Given the description of an element on the screen output the (x, y) to click on. 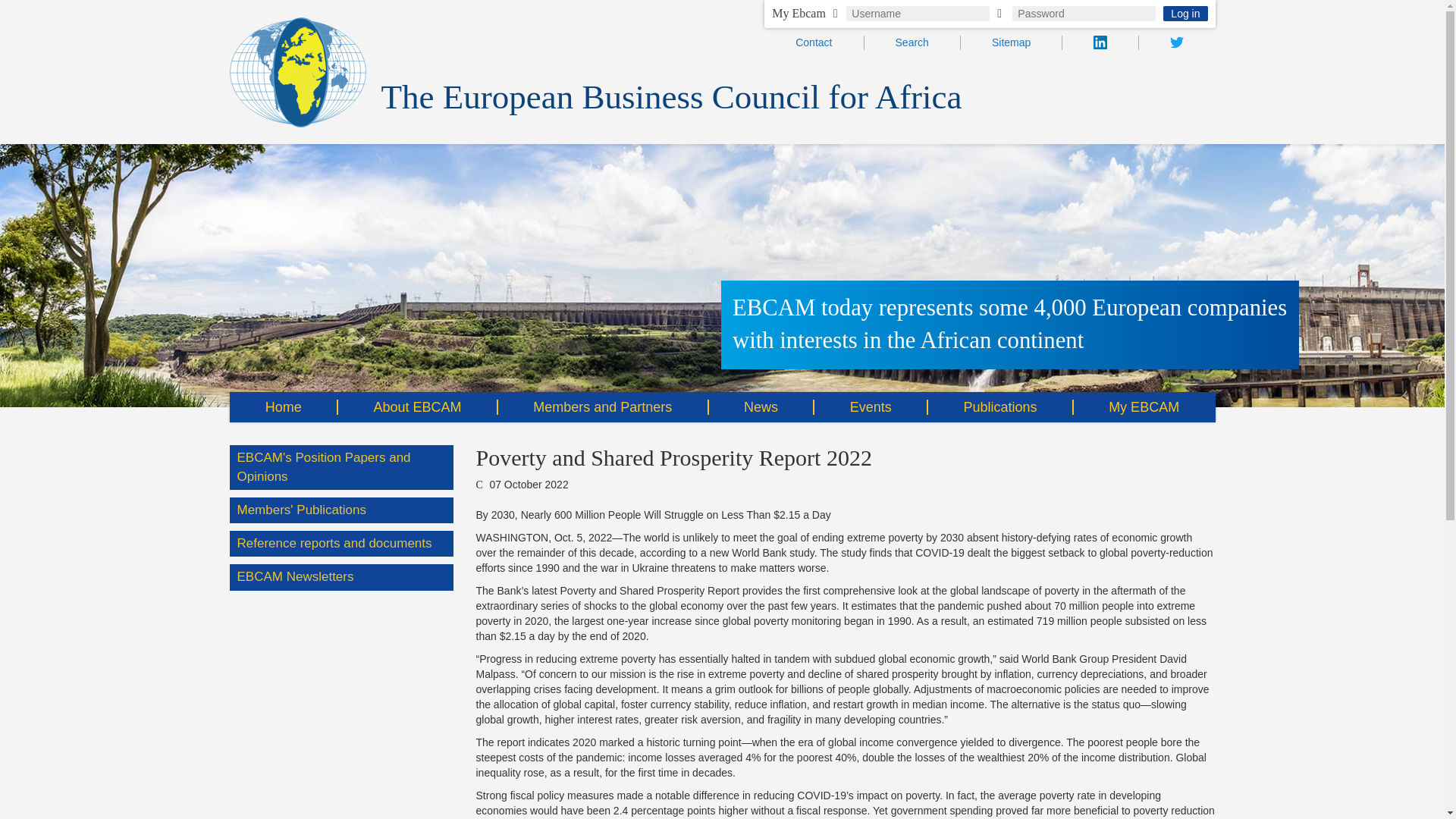
Publications (1000, 407)
Members and Partners (602, 407)
Contact (812, 42)
My EBCAM (1144, 407)
Sitemap (1010, 42)
About EBCAM (417, 407)
Events (870, 407)
Search (911, 42)
Home (282, 407)
Log in (1185, 13)
